Given the description of an element on the screen output the (x, y) to click on. 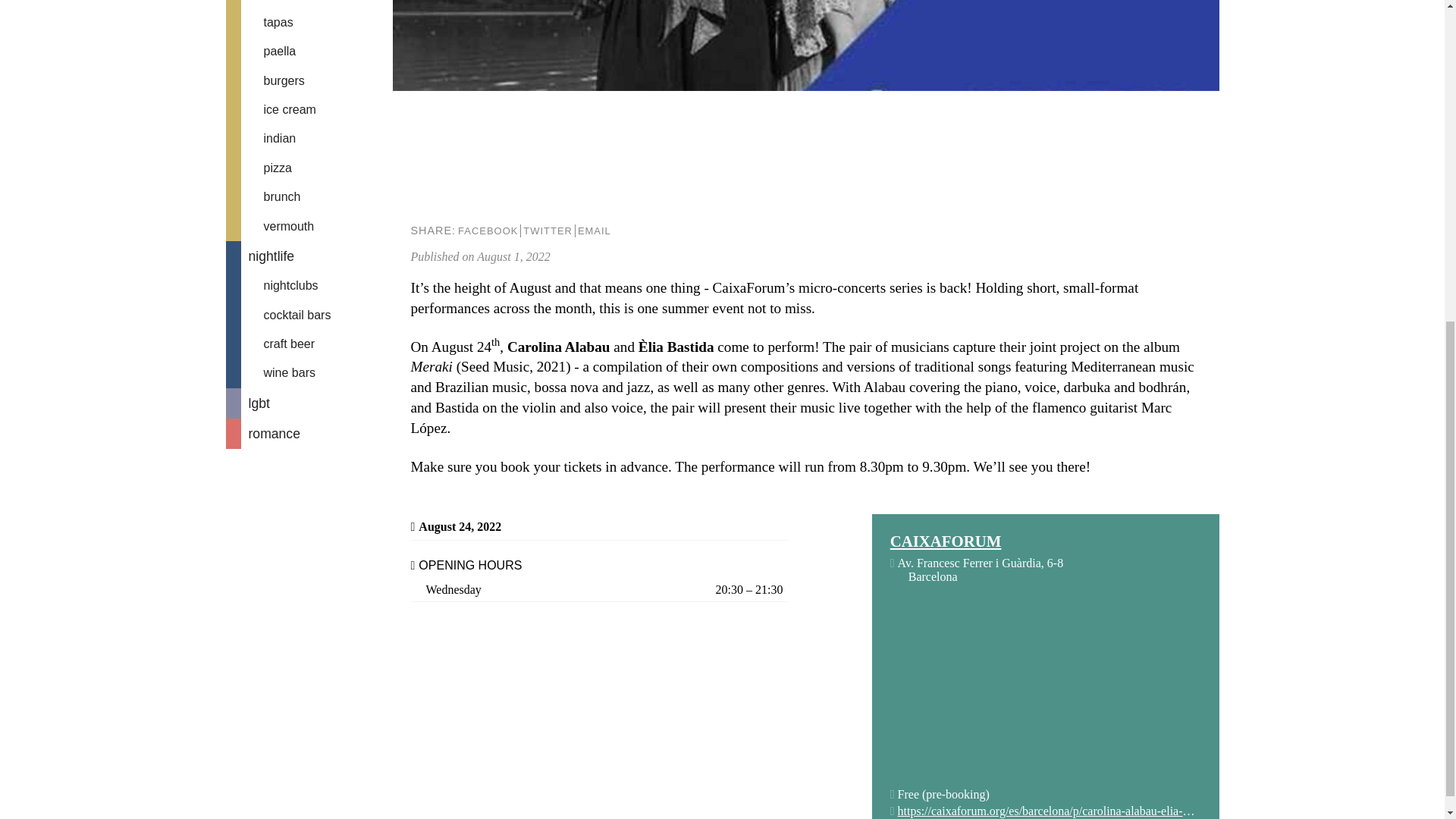
paella (309, 51)
lgbt (309, 403)
EMAIL (593, 230)
burgers (309, 80)
craft beer (309, 344)
tapas (309, 22)
vermouth (309, 226)
TWITTER (547, 230)
cocktail bars (309, 315)
romance (309, 433)
pizza (309, 167)
nightclubs (309, 285)
FACEBOOK (487, 230)
CAIXAFORUM (1045, 541)
indian (309, 138)
